Given the description of an element on the screen output the (x, y) to click on. 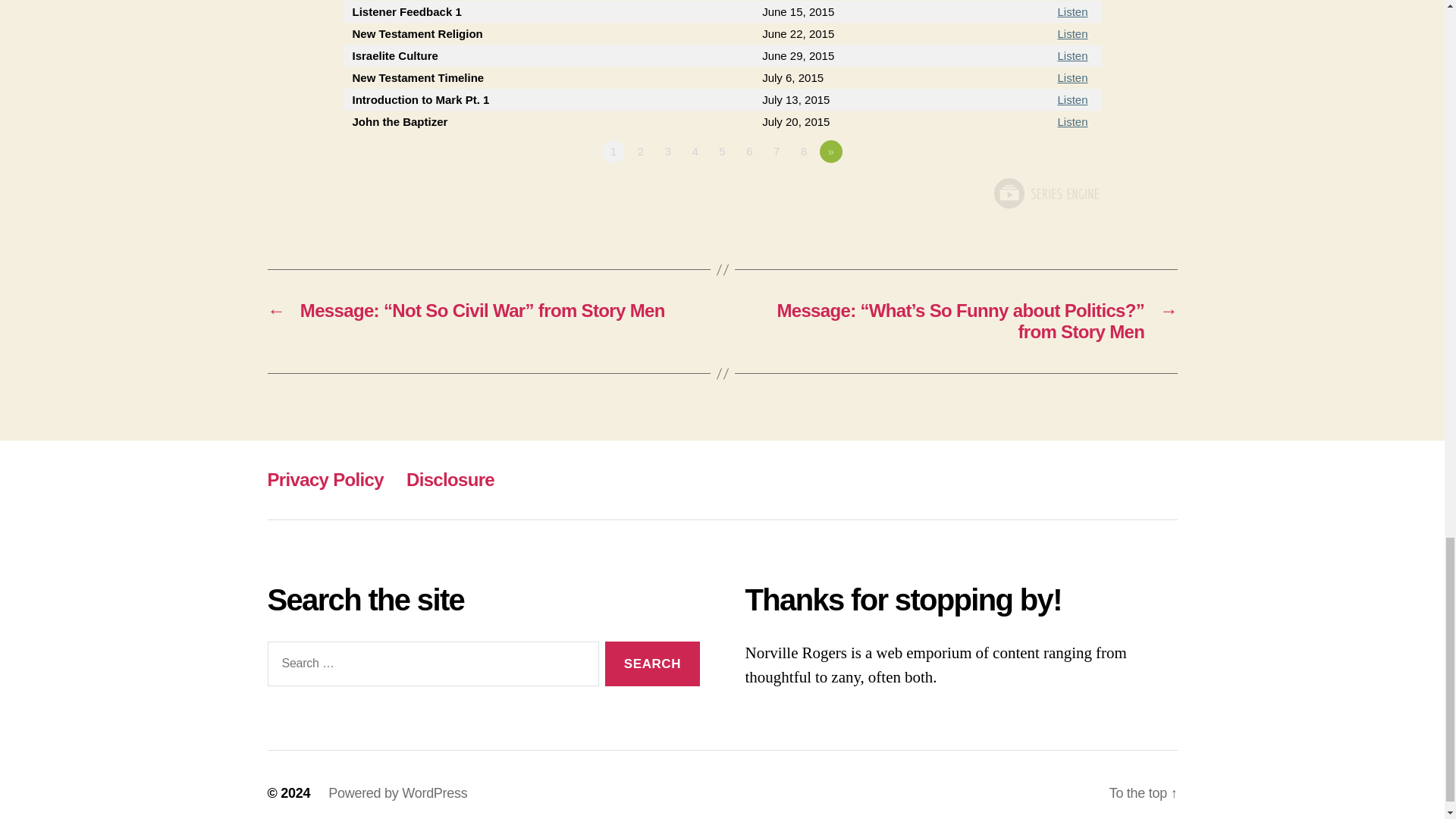
Search (651, 663)
Search (651, 663)
